Given the description of an element on the screen output the (x, y) to click on. 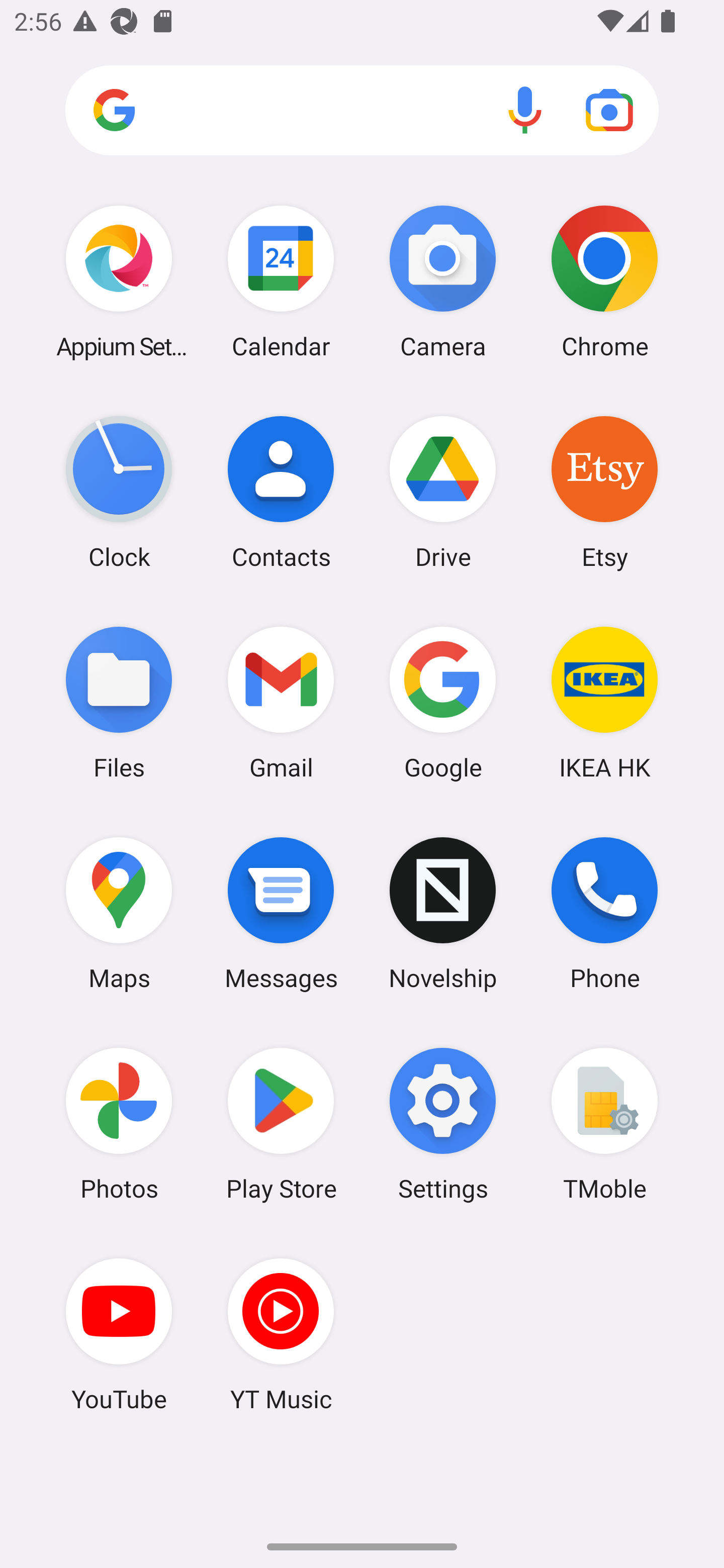
Search apps, web and more (361, 110)
Voice search (524, 109)
Google Lens (608, 109)
Appium Settings (118, 281)
Calendar (280, 281)
Camera (443, 281)
Chrome (604, 281)
Clock (118, 492)
Contacts (280, 492)
Drive (443, 492)
Etsy (604, 492)
Files (118, 702)
Gmail (280, 702)
Google (443, 702)
IKEA HK (604, 702)
Maps (118, 913)
Messages (280, 913)
Novelship (443, 913)
Phone (604, 913)
Photos (118, 1124)
Play Store (280, 1124)
Settings (443, 1124)
TMoble (604, 1124)
YouTube (118, 1334)
YT Music (280, 1334)
